Given the description of an element on the screen output the (x, y) to click on. 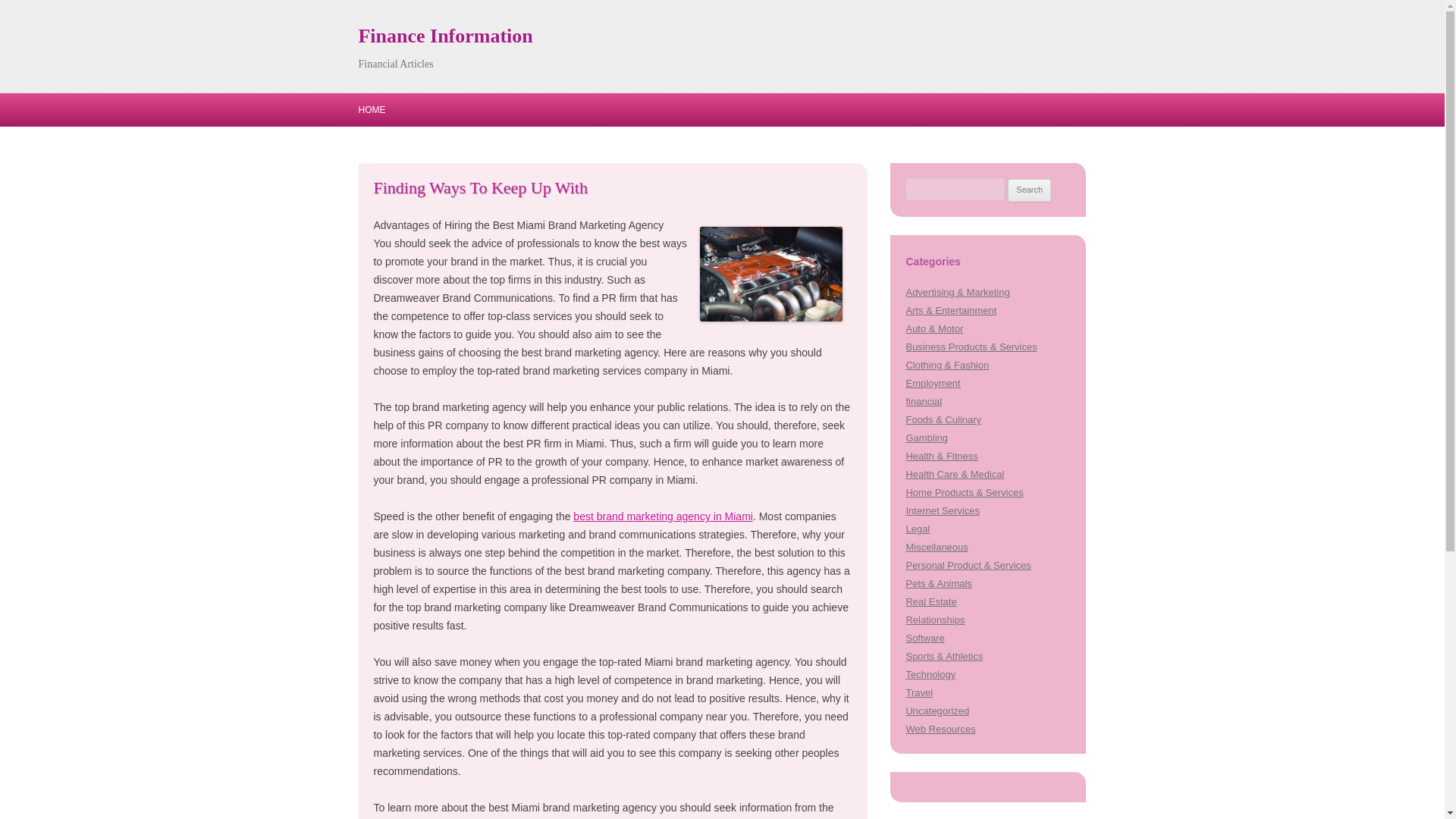
Employment (932, 383)
Internet Services (941, 510)
Gambling (926, 437)
Legal (917, 528)
Search (1029, 190)
financial (923, 401)
Web Resources (940, 728)
Uncategorized (937, 710)
Software (924, 637)
